Given the description of an element on the screen output the (x, y) to click on. 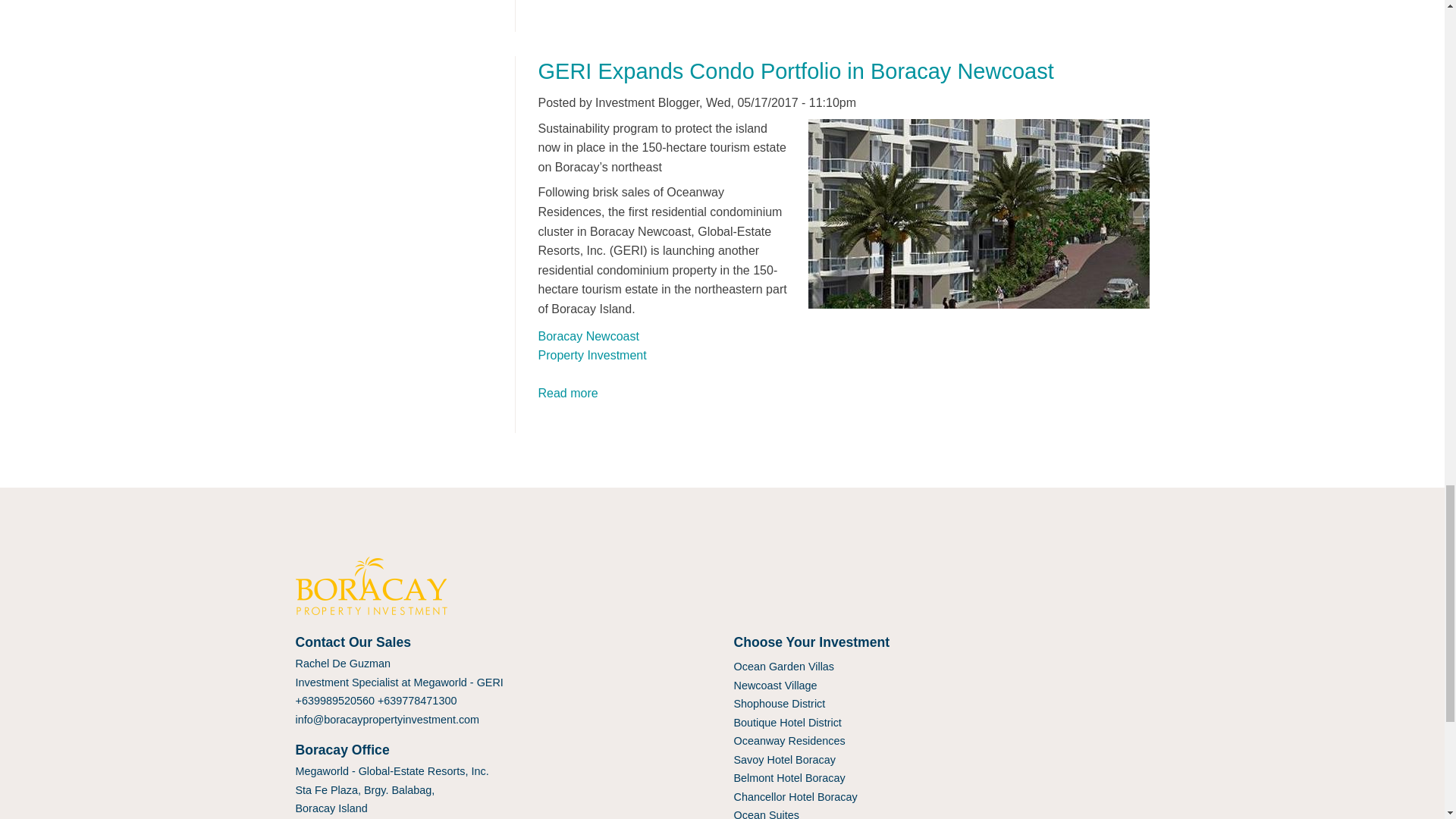
GERI Expands Condo Portfolio in Boracay Newcoast (796, 70)
Property Investment (592, 354)
Boracay Newcoast (588, 336)
GERI Expands Condo Portfolio in Boracay Newcoast (568, 392)
